Given the description of an element on the screen output the (x, y) to click on. 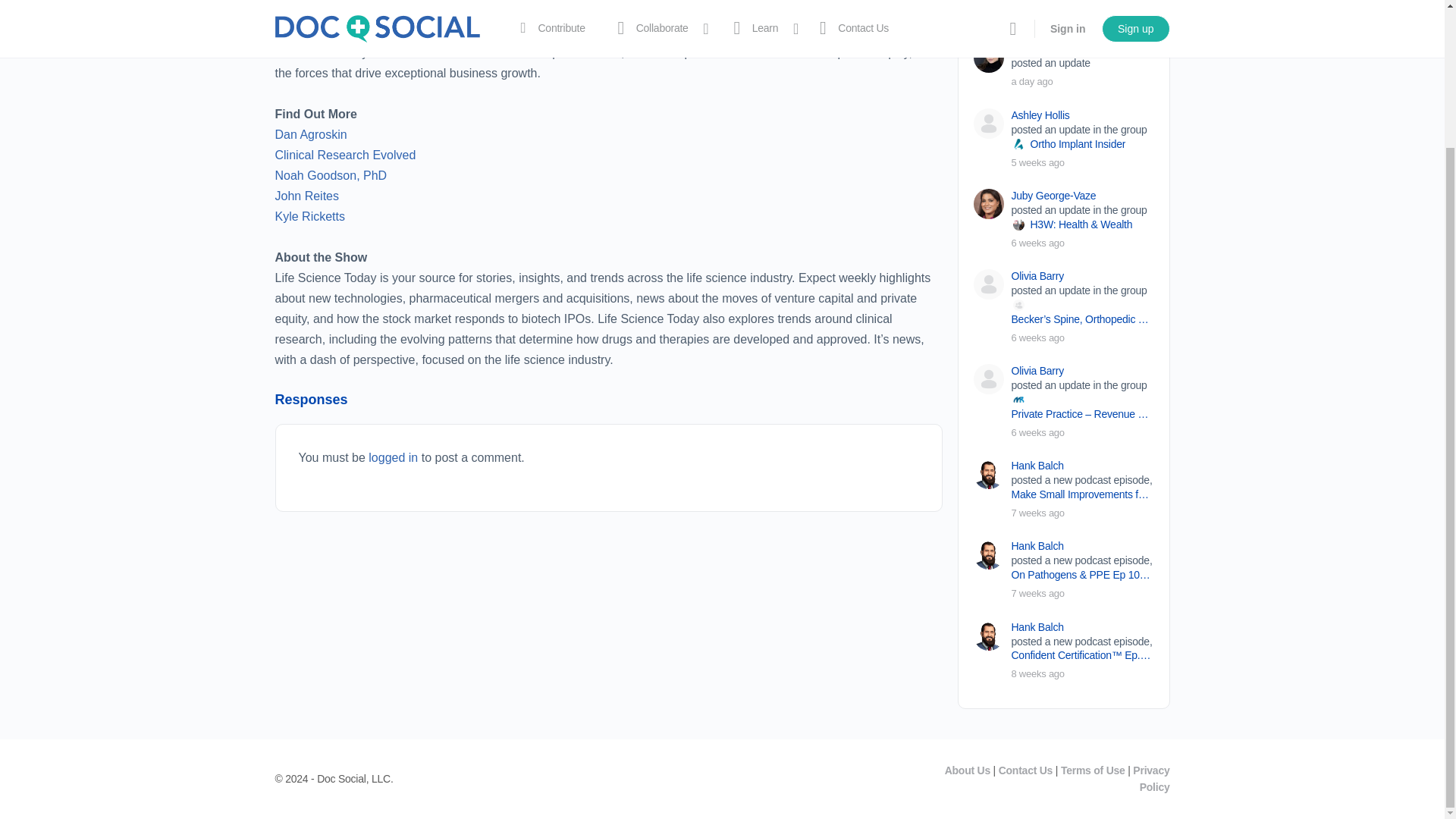
Dan Agroskin (310, 133)
Noah Goodson, PhD (331, 174)
John Reites (307, 195)
logged in (392, 457)
Kyle Ricketts (309, 215)
Clinical Research Evolved (344, 154)
